Given the description of an element on the screen output the (x, y) to click on. 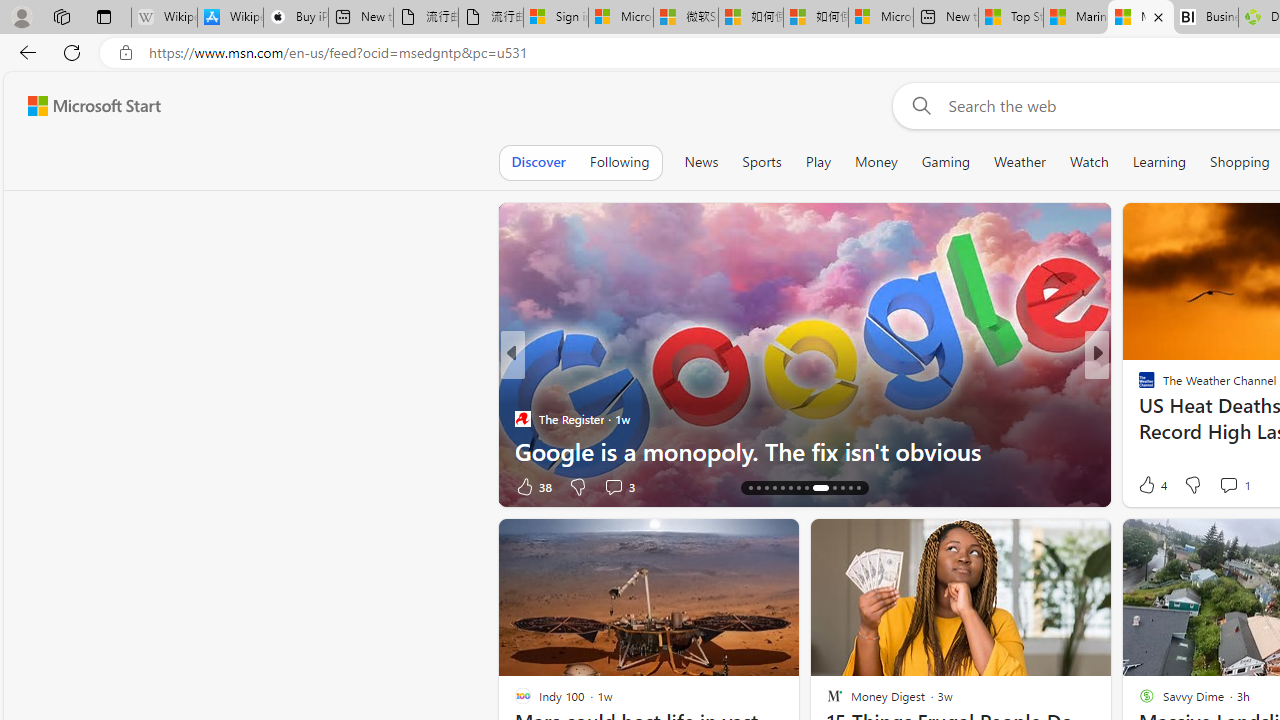
AutomationID: tab-23 (830, 487)
AutomationID: tab-21 (806, 487)
3 Like (1145, 486)
AutomationID: tab-19 (789, 487)
